Given the description of an element on the screen output the (x, y) to click on. 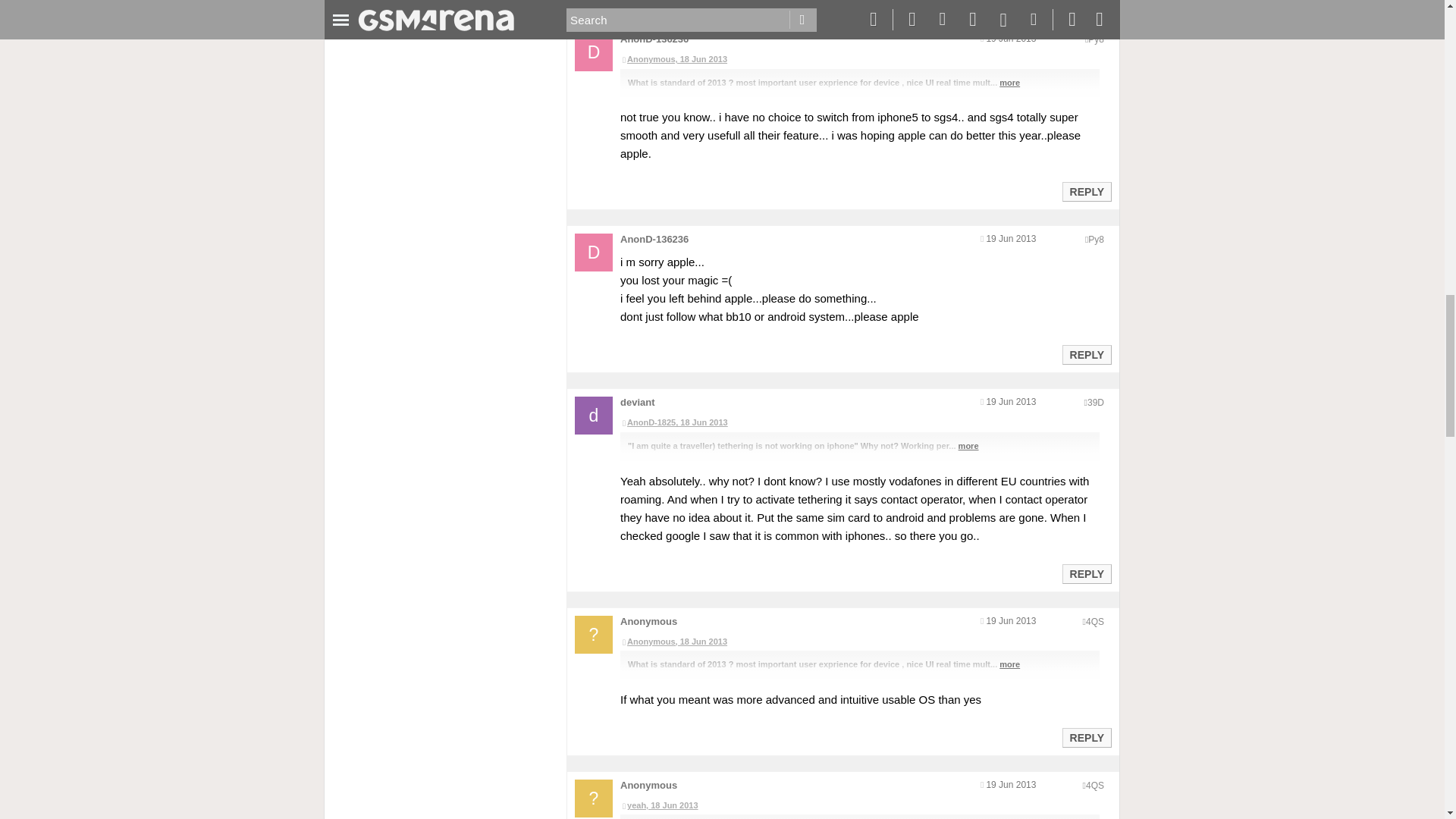
Reply to this post (1086, 191)
Reply to this post (1086, 354)
Encoded anonymized location (1095, 39)
Encoded anonymized location (1095, 239)
Encoded anonymized location (1095, 402)
